Given the description of an element on the screen output the (x, y) to click on. 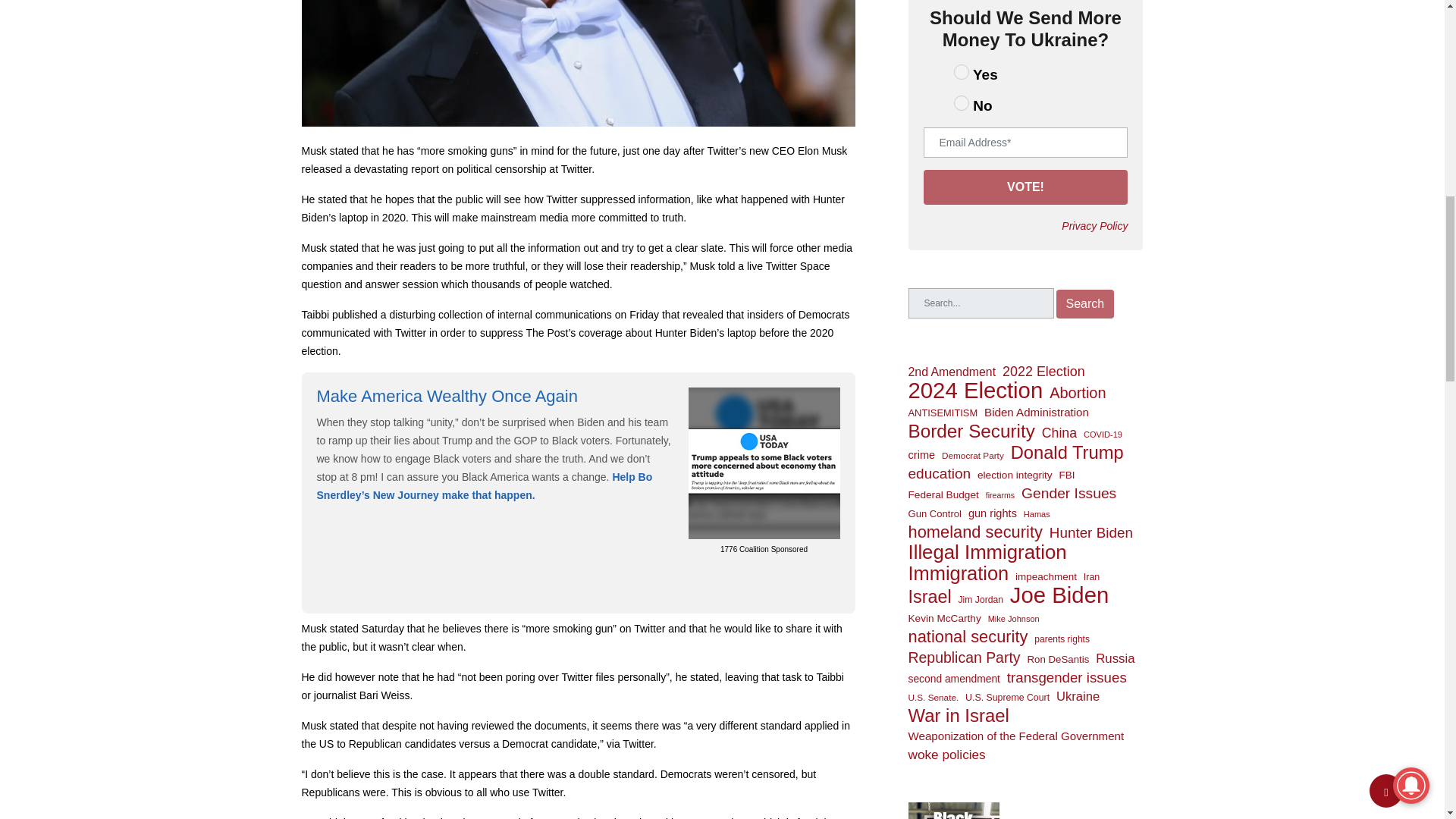
No (961, 102)
VOTE! (1025, 186)
Search (1084, 303)
Yes (961, 71)
Make America Wealthy Once Again (447, 395)
Make America Wealthy Once Again (764, 461)
Search (1084, 303)
